Given the description of an element on the screen output the (x, y) to click on. 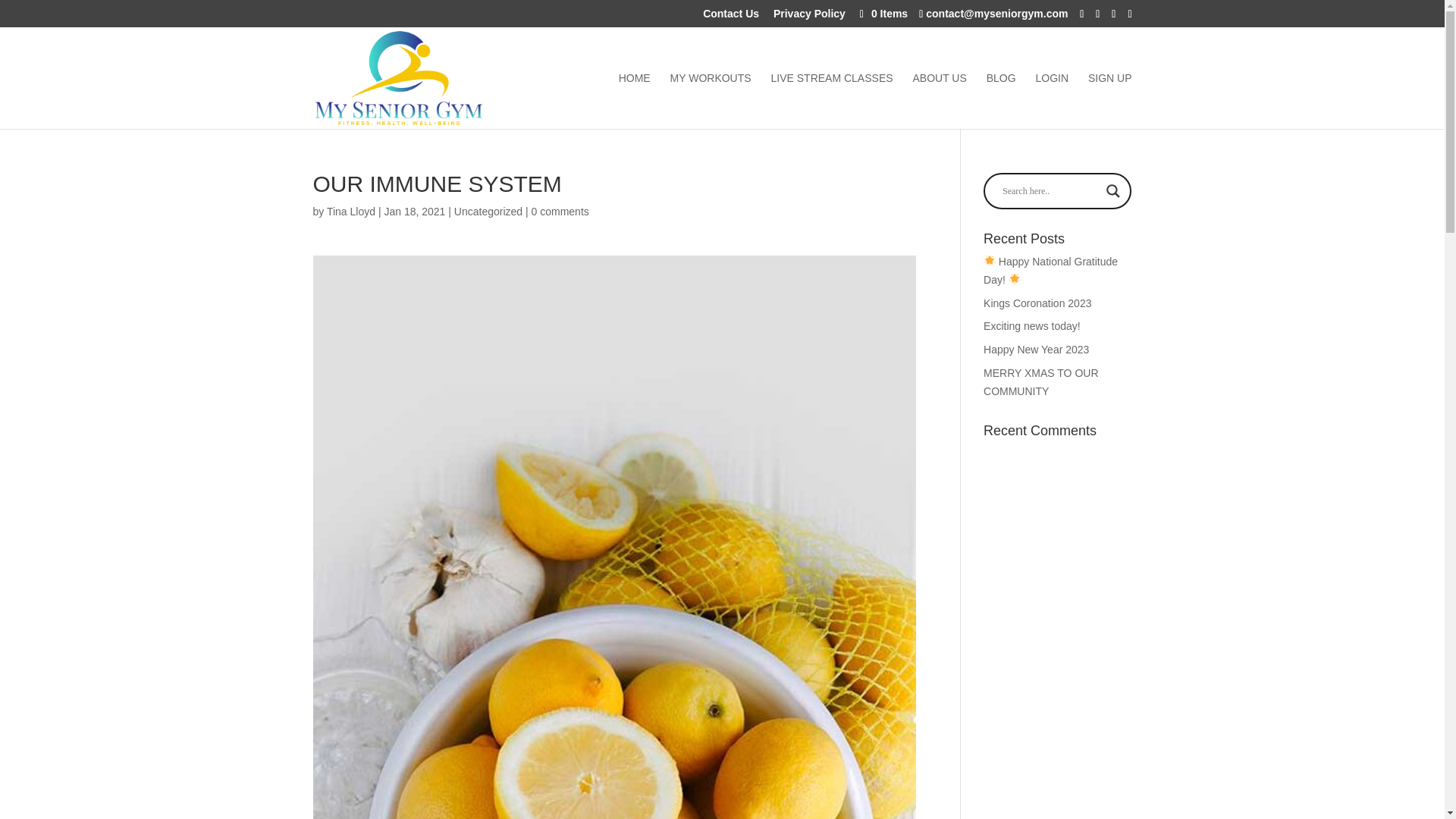
Uncategorized (488, 211)
0 comments (560, 211)
Privacy Policy (809, 16)
Kings Coronation 2023 (1037, 303)
ABOUT US (939, 100)
0 Items (882, 13)
MY WORKOUTS (710, 100)
Contact Us (730, 16)
LIVE STREAM CLASSES (831, 100)
 Happy National Gratitude Day! (1051, 270)
Happy New Year 2023 (1036, 349)
Posts by Tina Lloyd (350, 211)
Exciting news today! (1032, 326)
Tina Lloyd (350, 211)
